Given the description of an element on the screen output the (x, y) to click on. 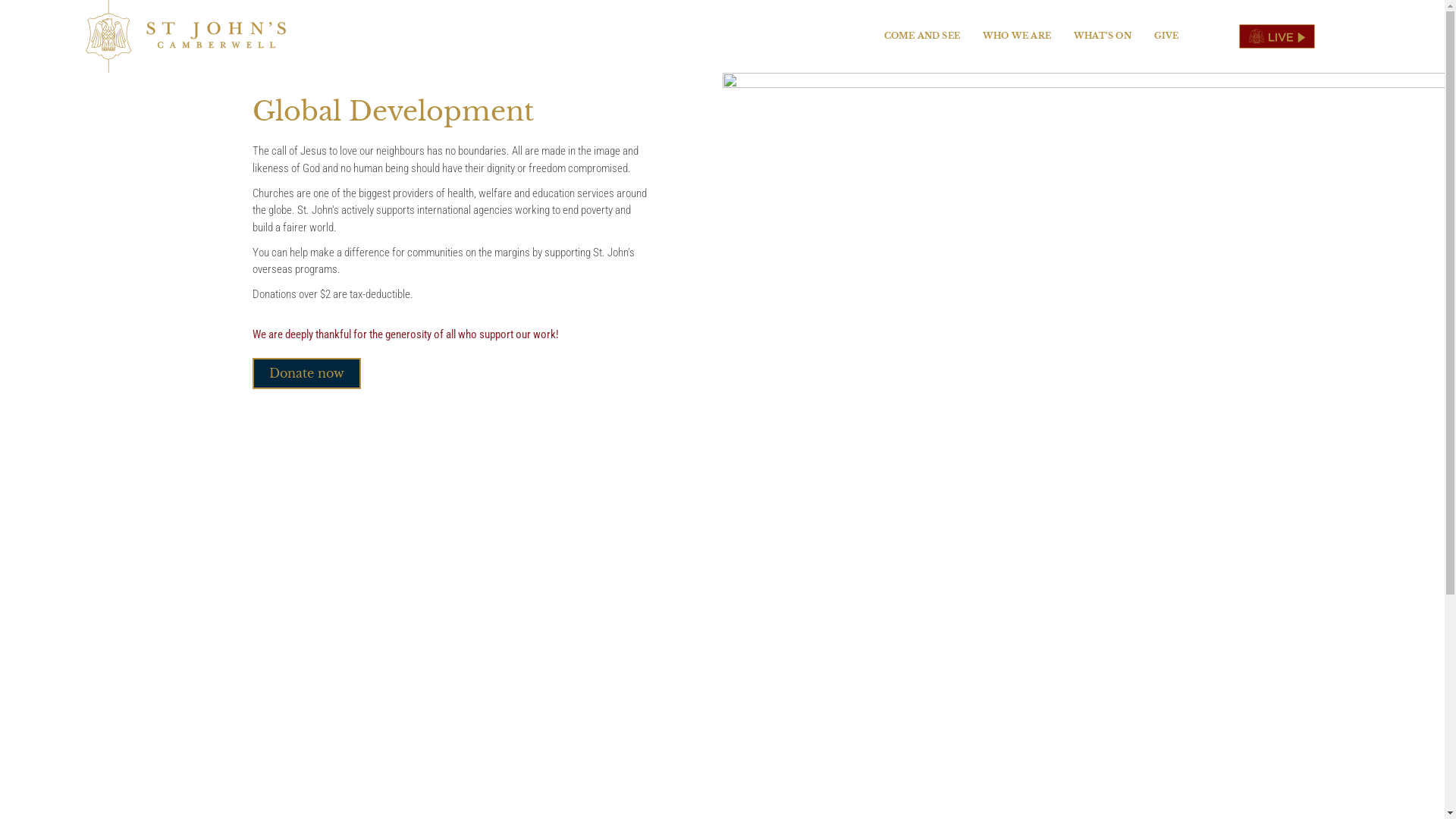
Donate now Element type: text (306, 373)
COME AND SEE Element type: text (921, 35)
GIVE Element type: text (1166, 35)
WHO WE ARE Element type: text (1016, 35)
